Given the description of an element on the screen output the (x, y) to click on. 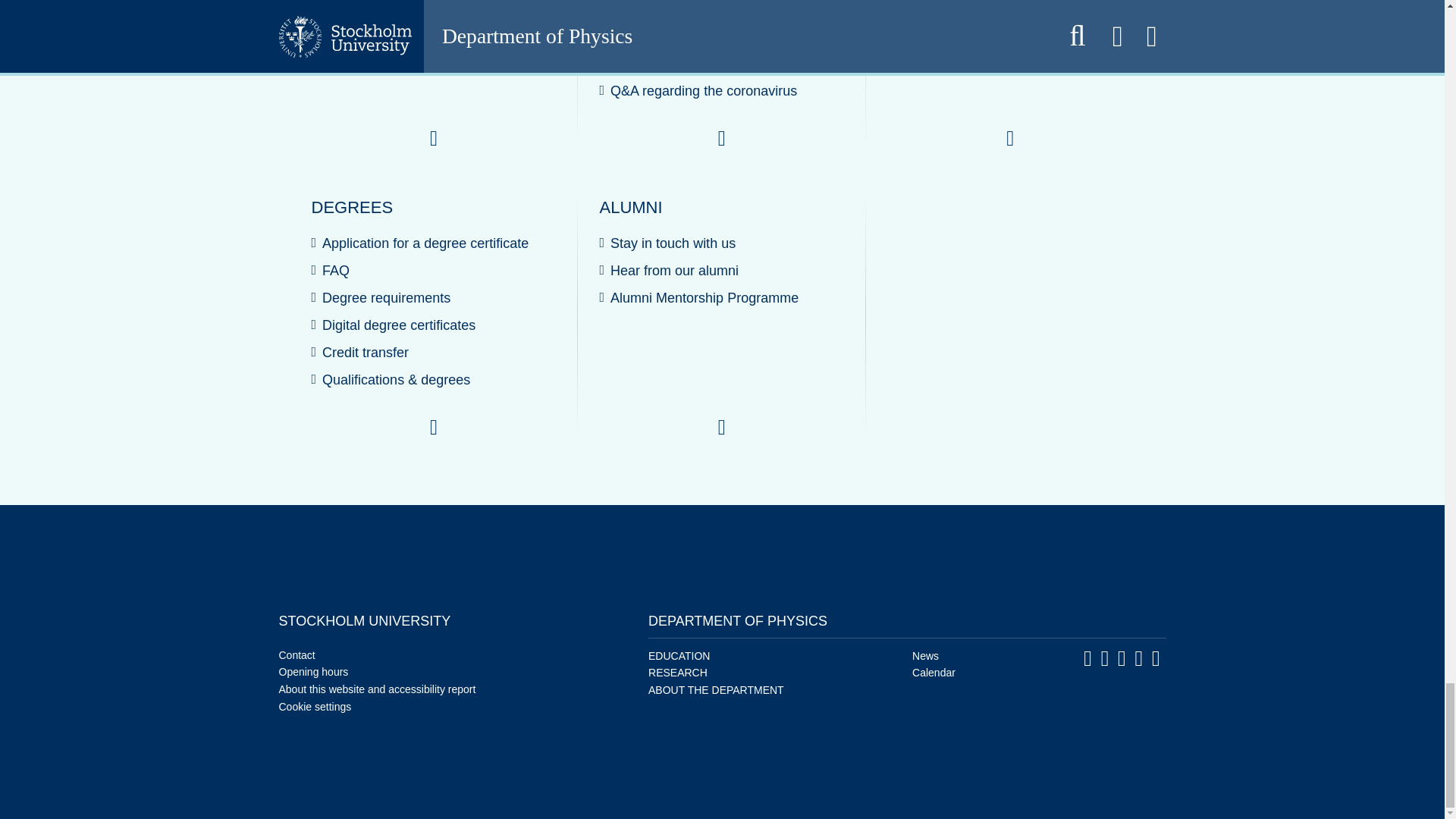
Review cookie settings (315, 706)
